Given the description of an element on the screen output the (x, y) to click on. 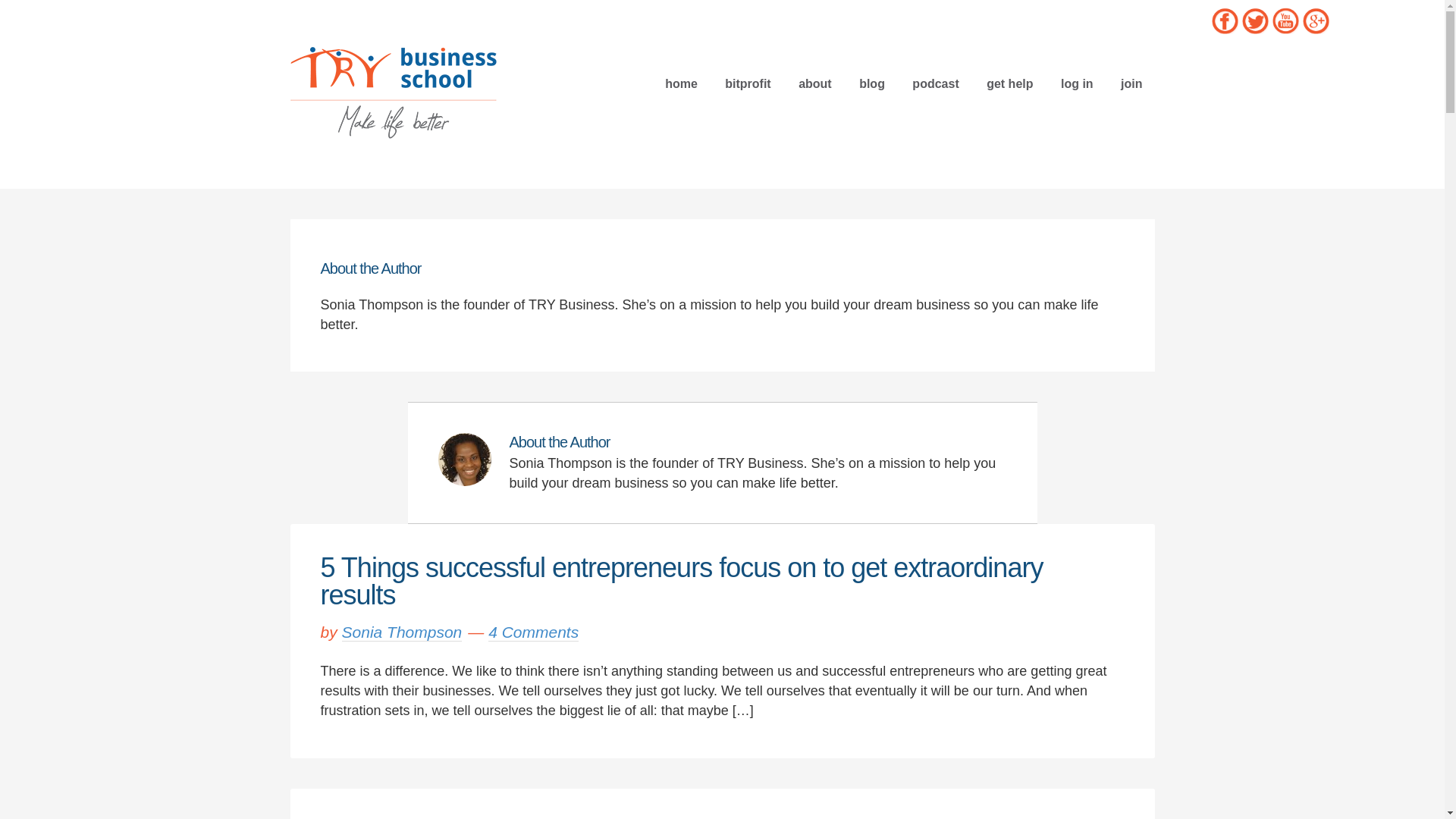
4 Comments (532, 632)
TRY BUSINESS (392, 91)
home (681, 84)
bitprofit (748, 84)
blog (871, 84)
get help (1009, 84)
Sonia Thompson (402, 632)
about (815, 84)
